Given the description of an element on the screen output the (x, y) to click on. 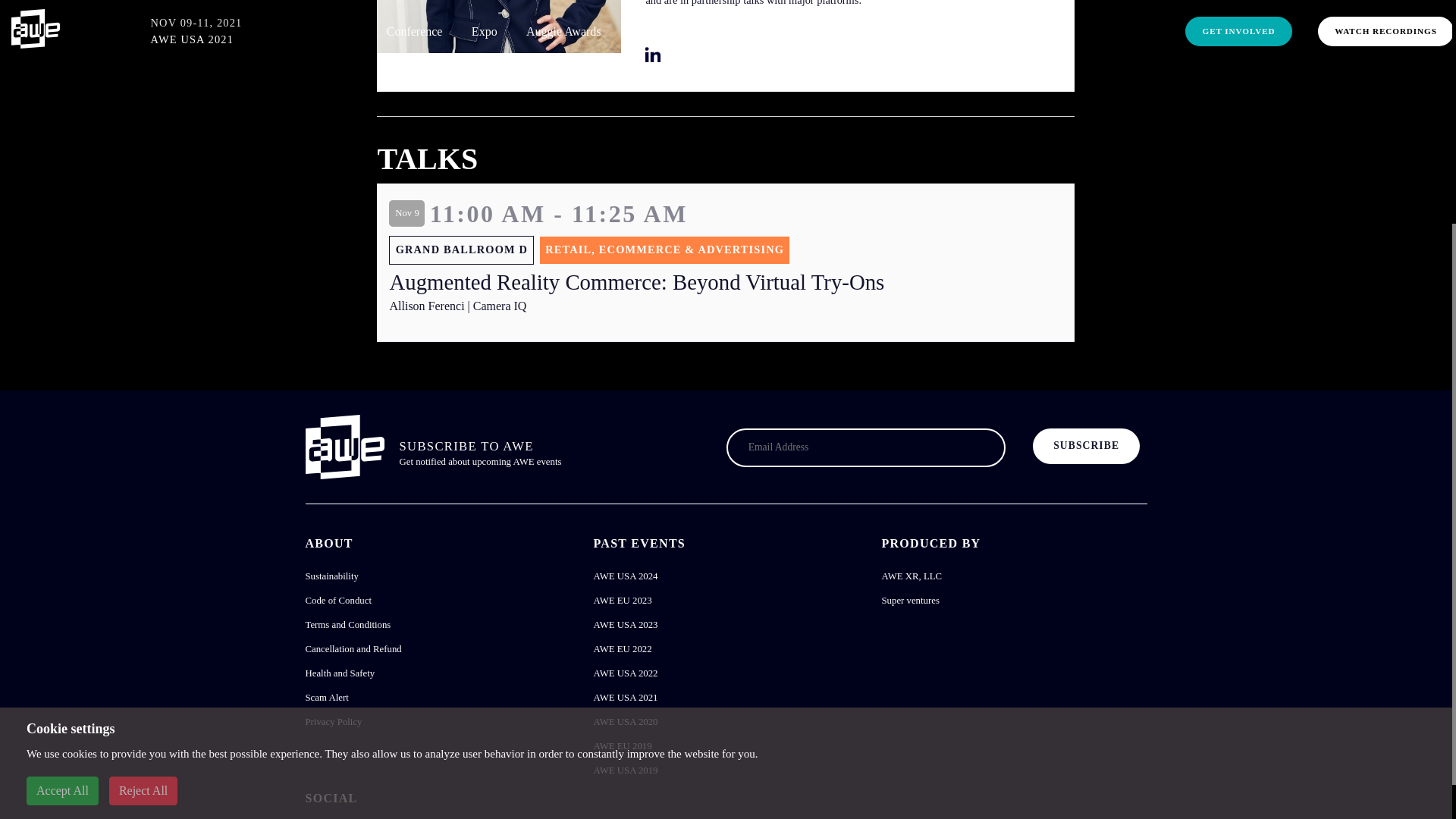
Subscribe (1086, 446)
